Given the description of an element on the screen output the (x, y) to click on. 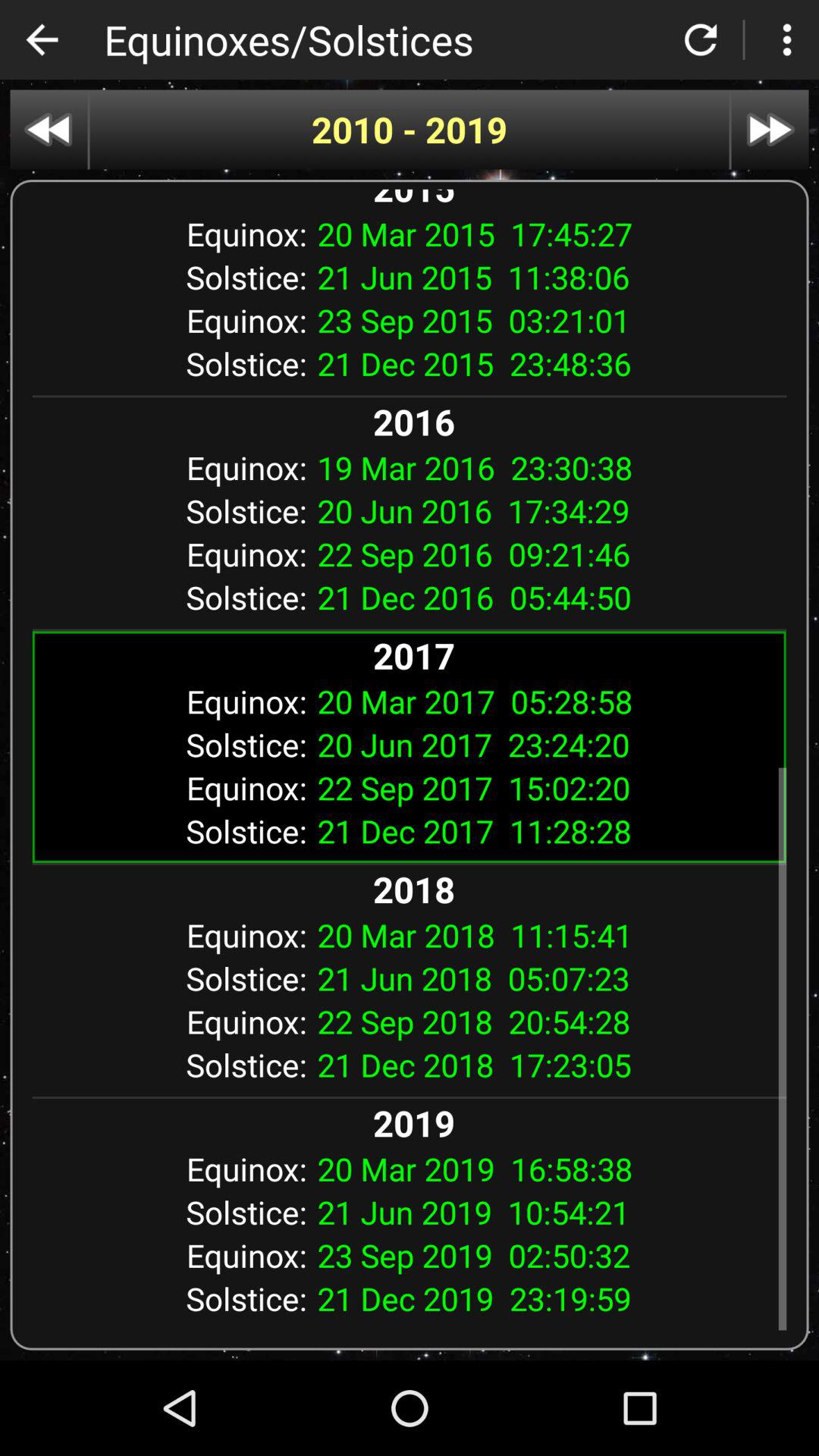
tap item next to equinox: (546, 467)
